Given the description of an element on the screen output the (x, y) to click on. 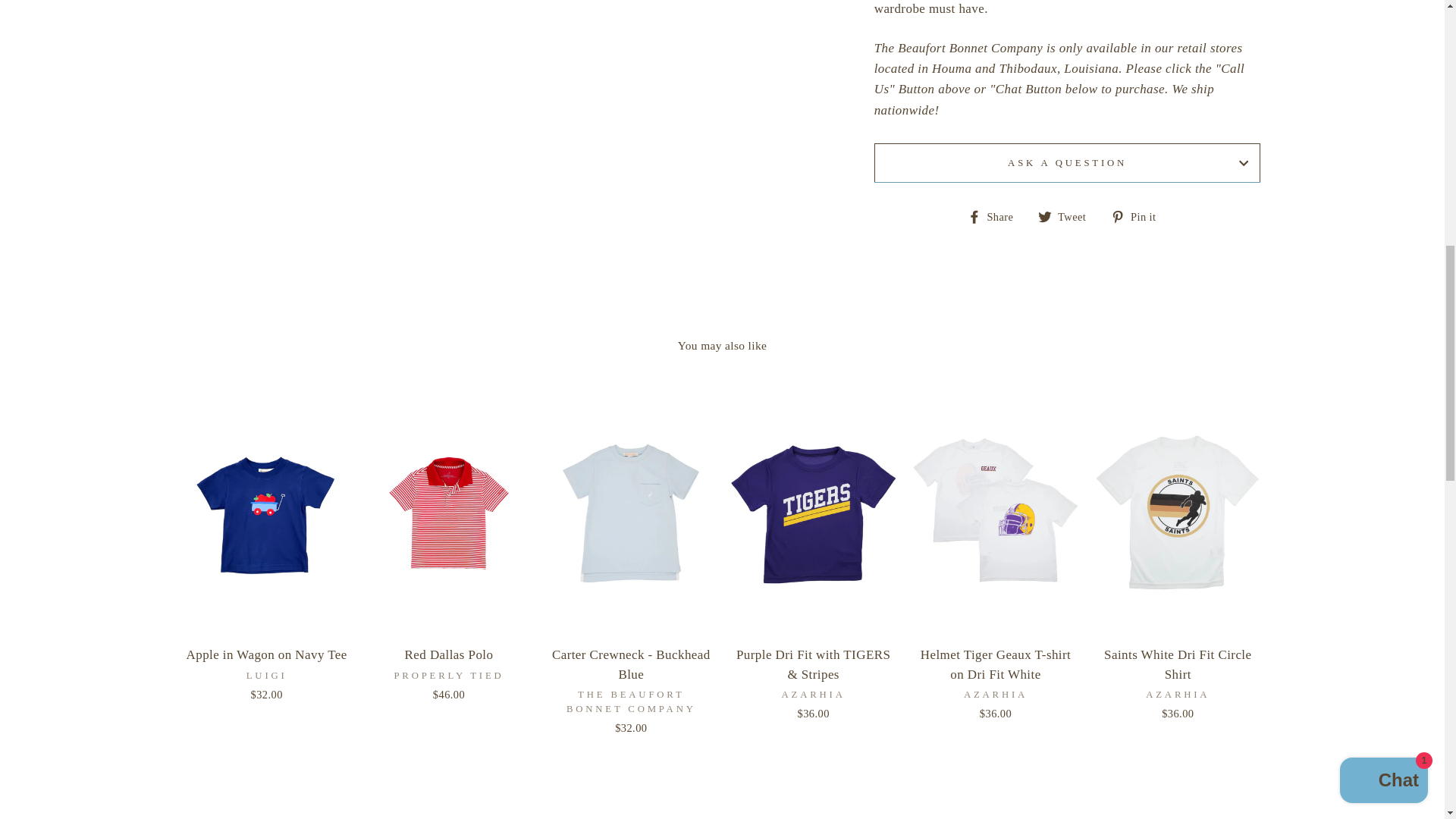
Tweet on Twitter (1067, 215)
Share on Facebook (996, 215)
Pin on Pinterest (1138, 215)
